Given the description of an element on the screen output the (x, y) to click on. 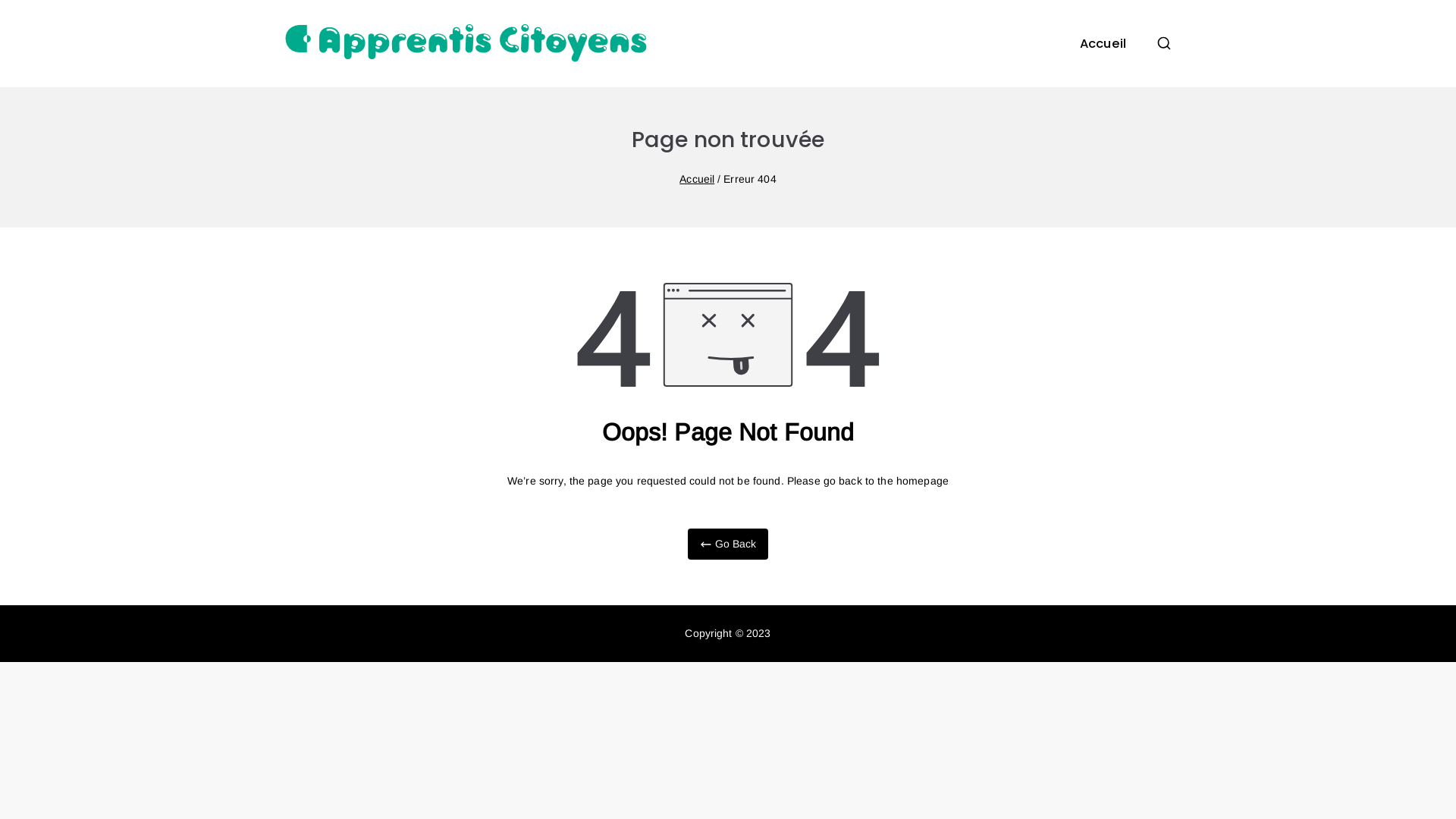
Apprentis citoyens Element type: text (802, 63)
Go Back Element type: text (727, 543)
Accueil Element type: text (1102, 43)
Accueil Element type: text (696, 178)
Search Element type: text (24, 12)
